Given the description of an element on the screen output the (x, y) to click on. 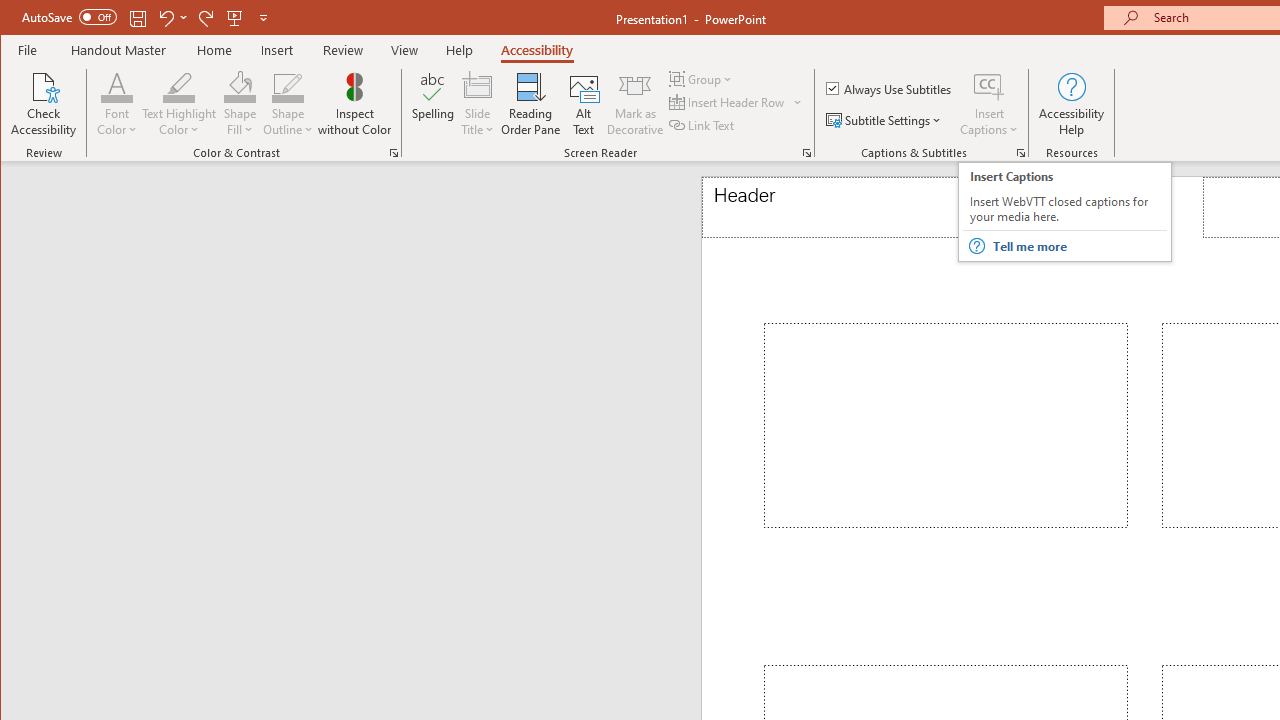
Slide Title (477, 86)
Captions & Subtitles (1020, 152)
Insert Header Row (728, 101)
Header (893, 207)
Color & Contrast (393, 152)
Alt Text (584, 104)
Tell me more (1078, 246)
